Given the description of an element on the screen output the (x, y) to click on. 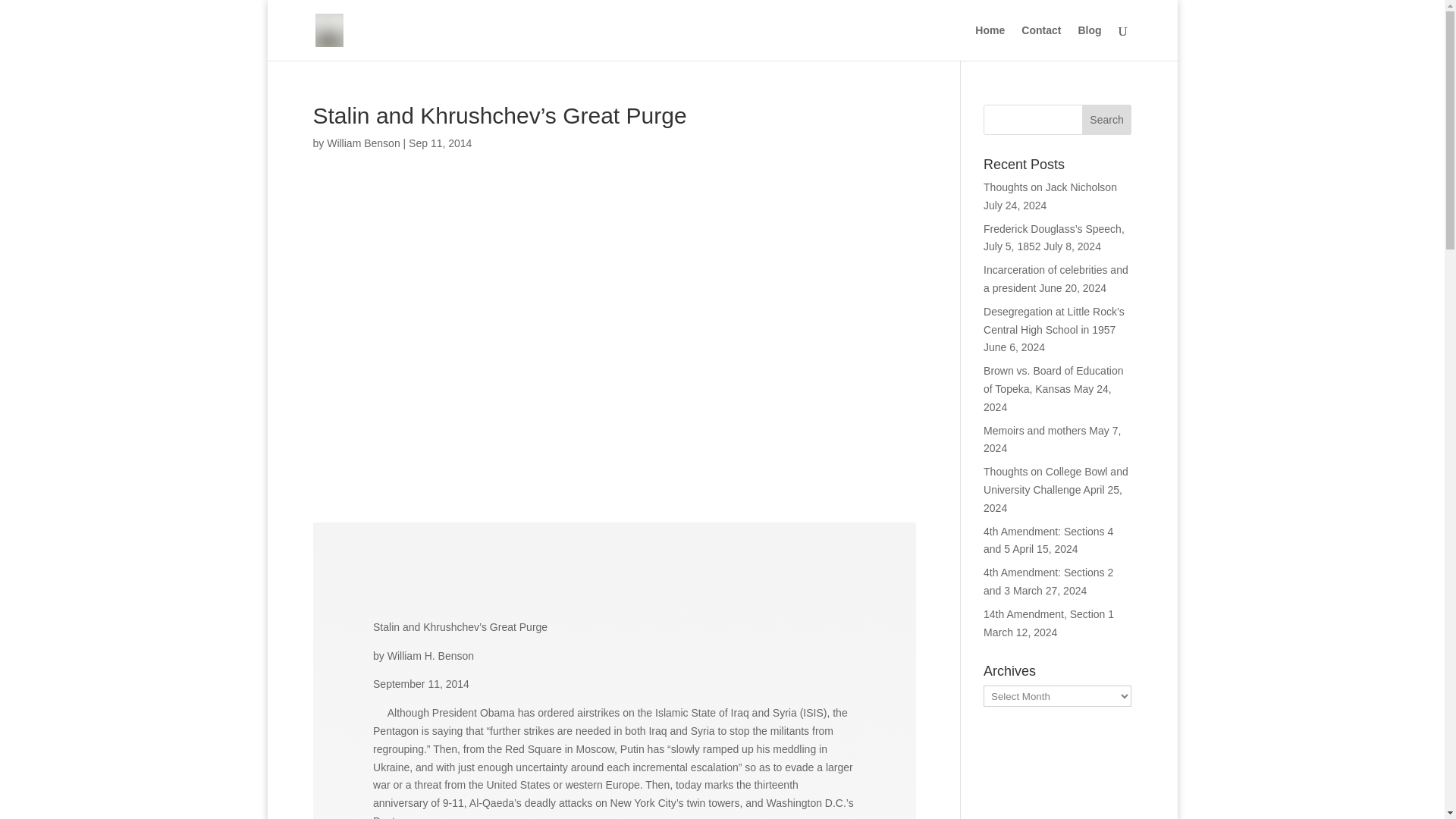
William Benson (362, 143)
Thoughts on Jack Nicholson (1050, 186)
4th Amendment: Sections 2 and 3 (1048, 581)
Posts by William Benson (362, 143)
Contact (1041, 42)
Brown vs. Board of Education of Topeka, Kansas (1053, 379)
Search (1106, 119)
14th Amendment, Section 1 (1048, 613)
Thoughts on College Bowl and University Challenge (1056, 481)
Incarceration of celebrities and a president (1056, 278)
Search (1106, 119)
Memoirs and mothers (1035, 430)
4th Amendment: Sections 4 and 5 (1048, 540)
